Given the description of an element on the screen output the (x, y) to click on. 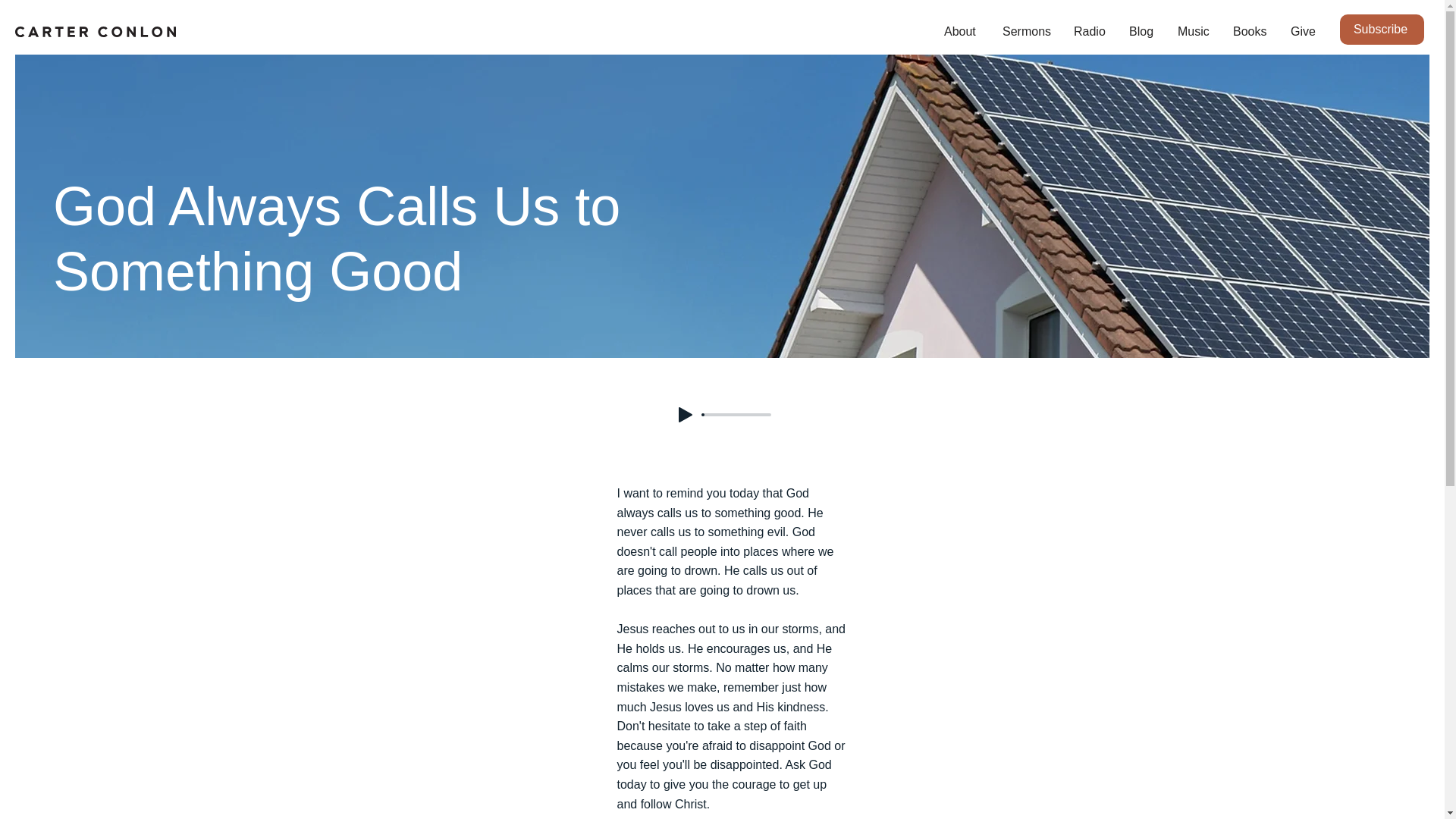
Music (1193, 31)
Blog (1142, 31)
0 (735, 414)
About (962, 31)
Radio (1090, 31)
Sermons (1026, 31)
Give (1302, 31)
Subscribe (1381, 29)
Books (1250, 31)
